Given the description of an element on the screen output the (x, y) to click on. 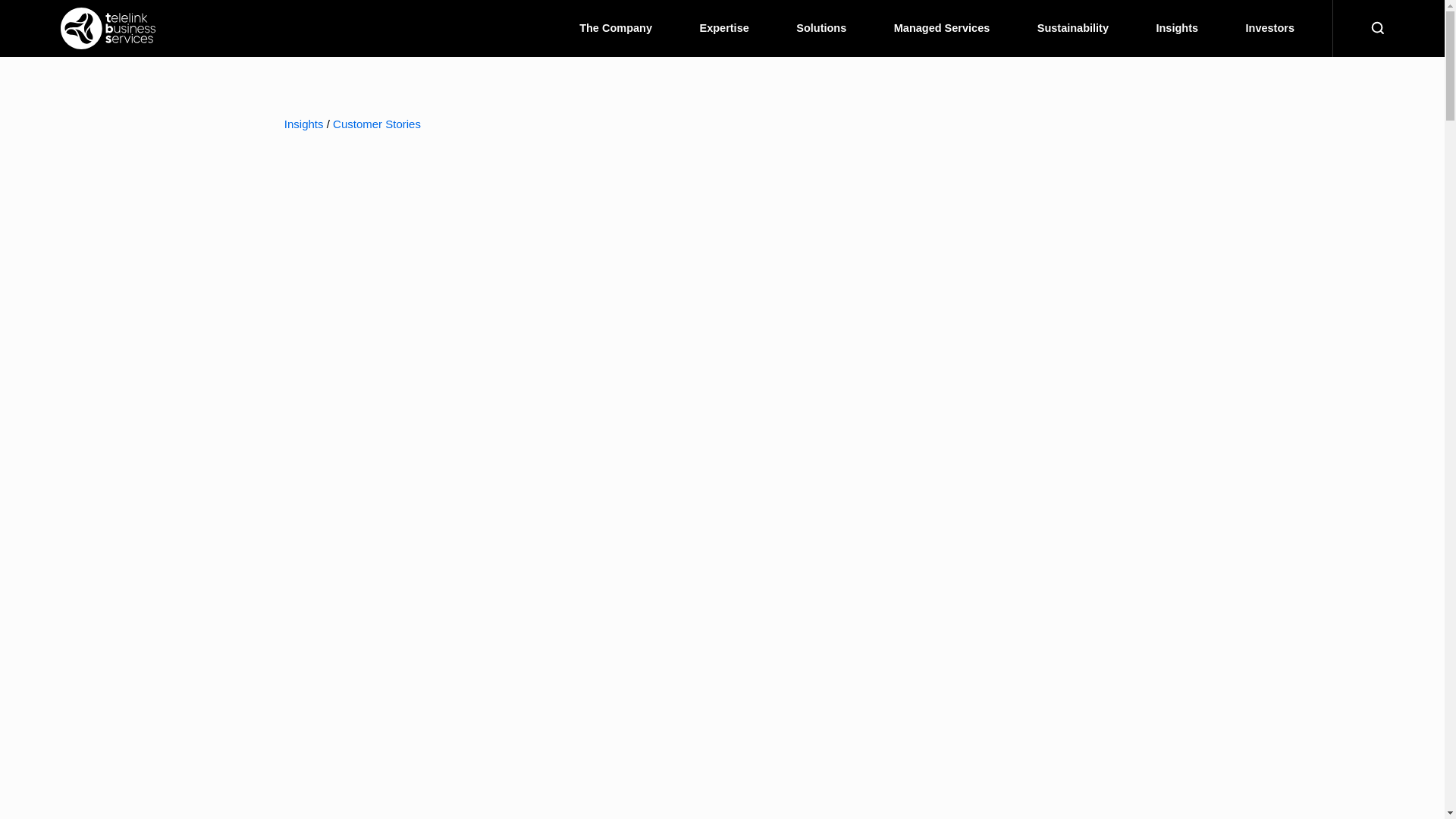
Managed Services (941, 28)
Customer Stories (376, 124)
Sustainability (1072, 28)
The Company (615, 28)
Insights (303, 124)
